Given the description of an element on the screen output the (x, y) to click on. 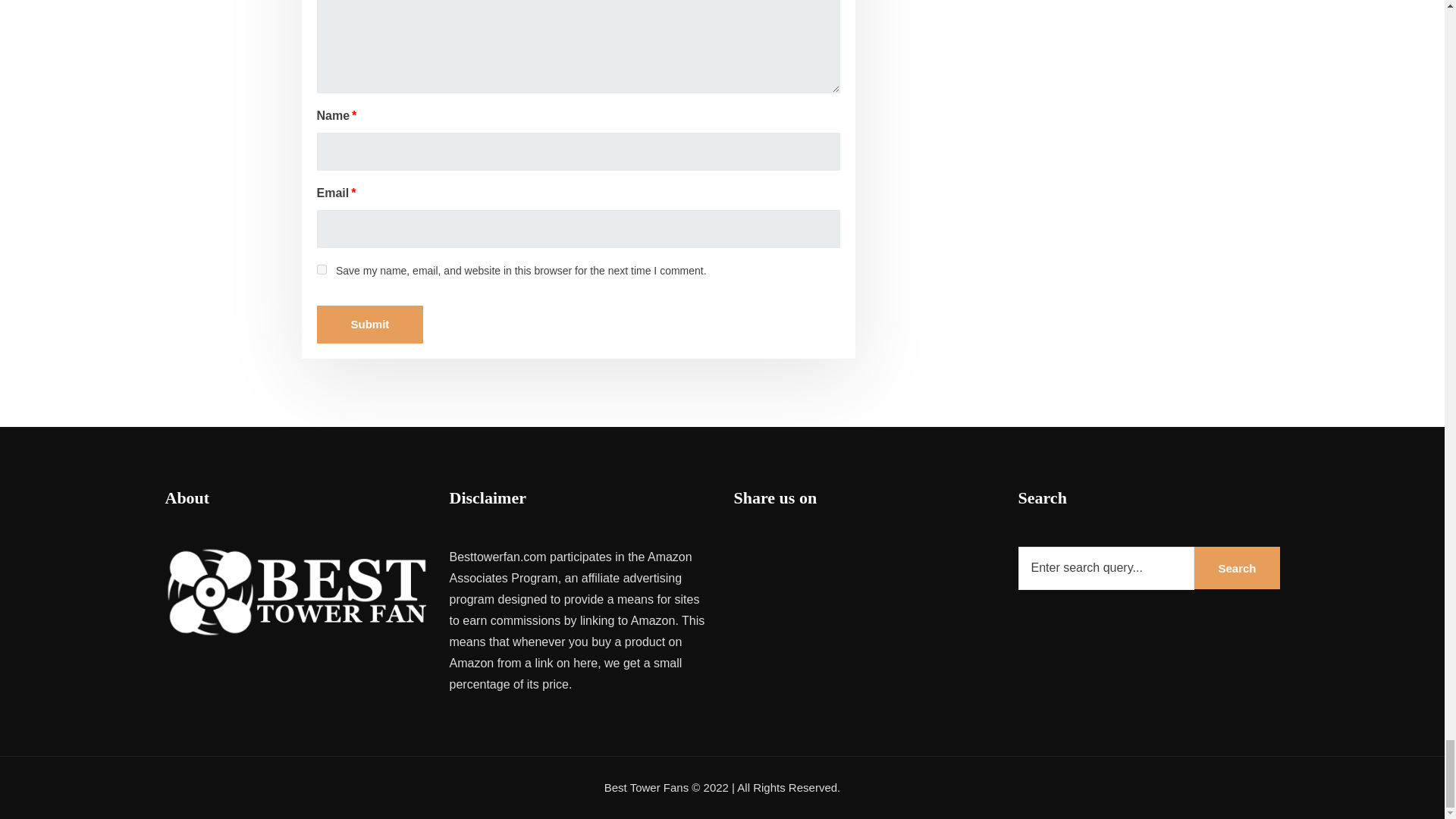
Submit (370, 324)
yes (321, 269)
